Given the description of an element on the screen output the (x, y) to click on. 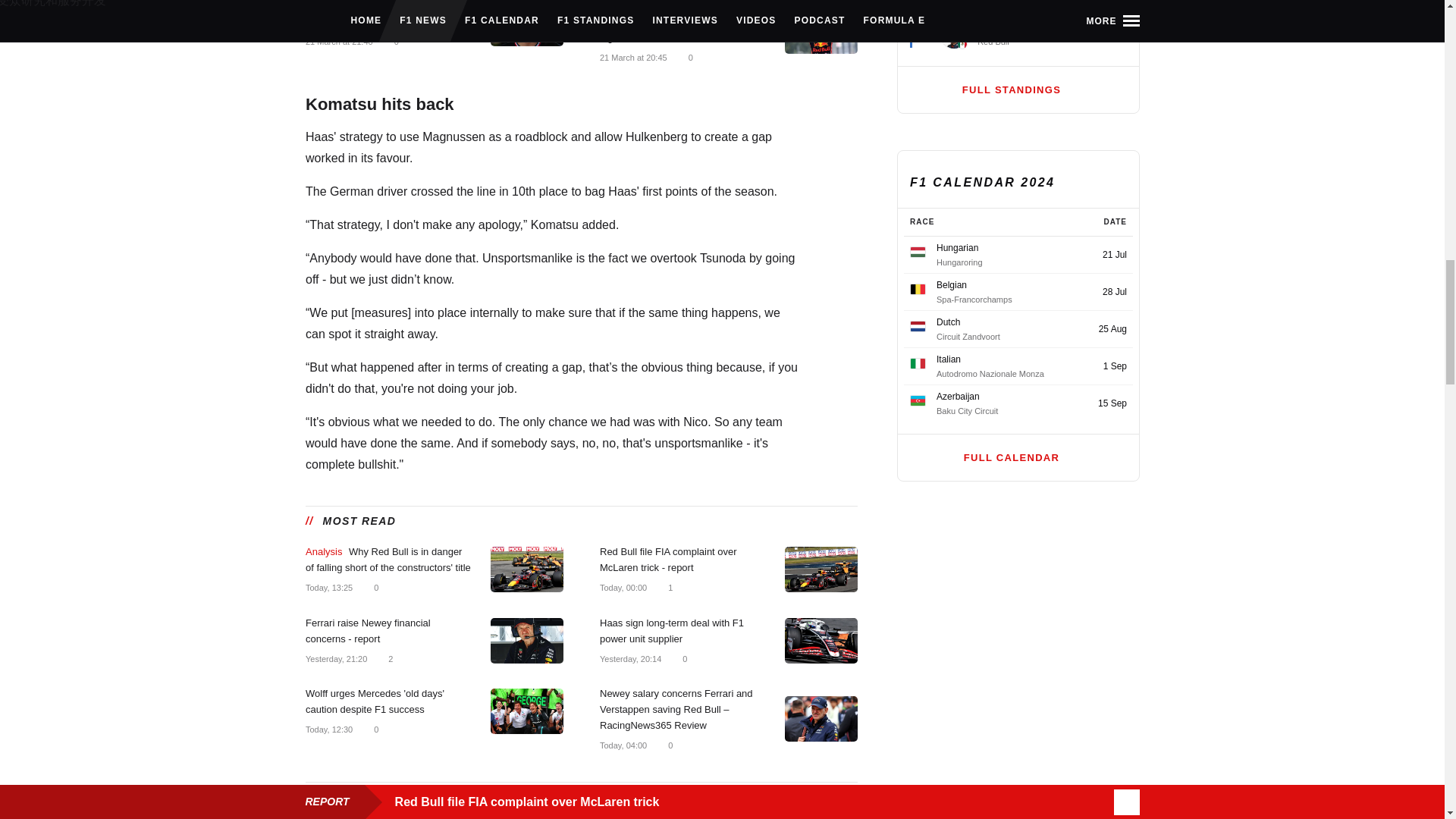
Thursday 21 March 2024 at 21:40 (338, 40)
Wednesday 17 July 2024 at 13:25 (328, 586)
Tuesday 16 July 2024 at 20:14 (629, 657)
Tuesday 16 July 2024 at 21:20 (335, 657)
Wednesday 17 July 2024 at 12:30 (328, 728)
Wednesday 17 July 2024 at 00:00 (622, 586)
Thursday 21 March 2024 at 20:45 (632, 56)
